Given the description of an element on the screen output the (x, y) to click on. 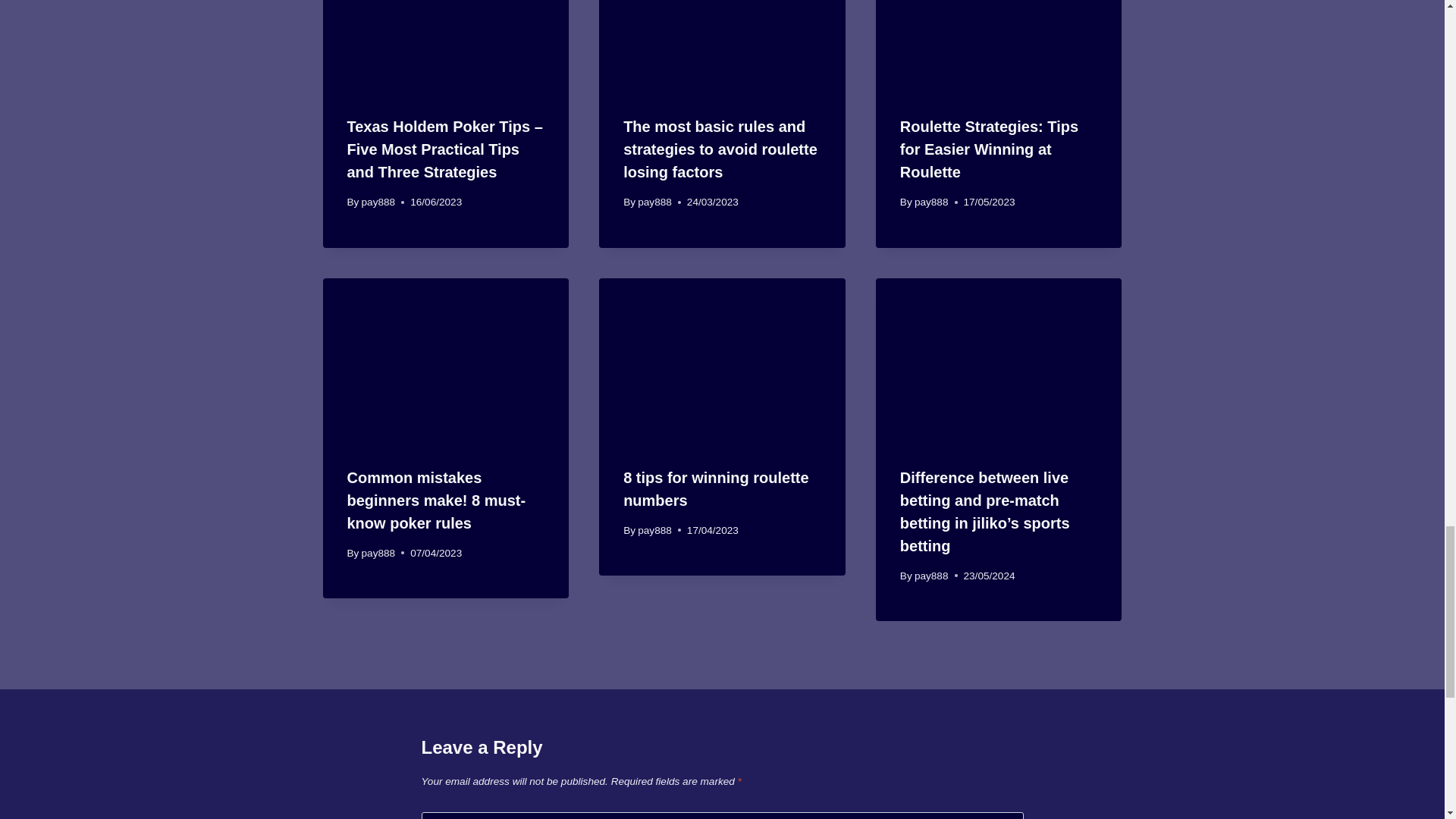
pay888 (378, 202)
pay888 (654, 202)
